Given the description of an element on the screen output the (x, y) to click on. 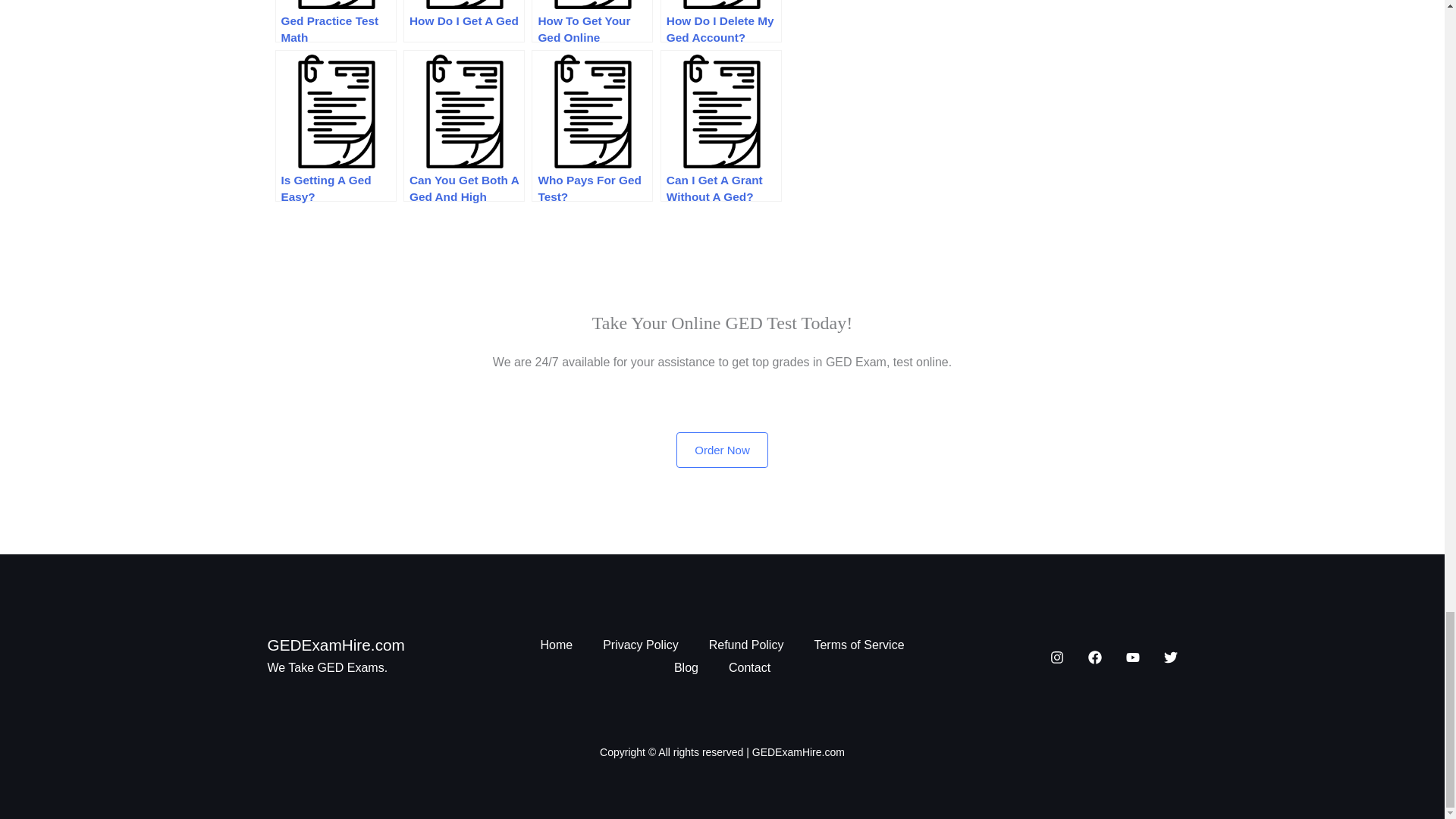
Can I Get A Grant Without A Ged? (721, 125)
Who Pays For Ged Test? (591, 125)
Is Getting A Ged Easy? (335, 125)
How Do I Delete My Ged Account? (721, 21)
How Do I Get A Ged (463, 21)
Ged Practice Test Math (335, 21)
Can You Get Both A Ged And High School Diploma? (463, 125)
How To Get Your Ged Online (591, 21)
